Given the description of an element on the screen output the (x, y) to click on. 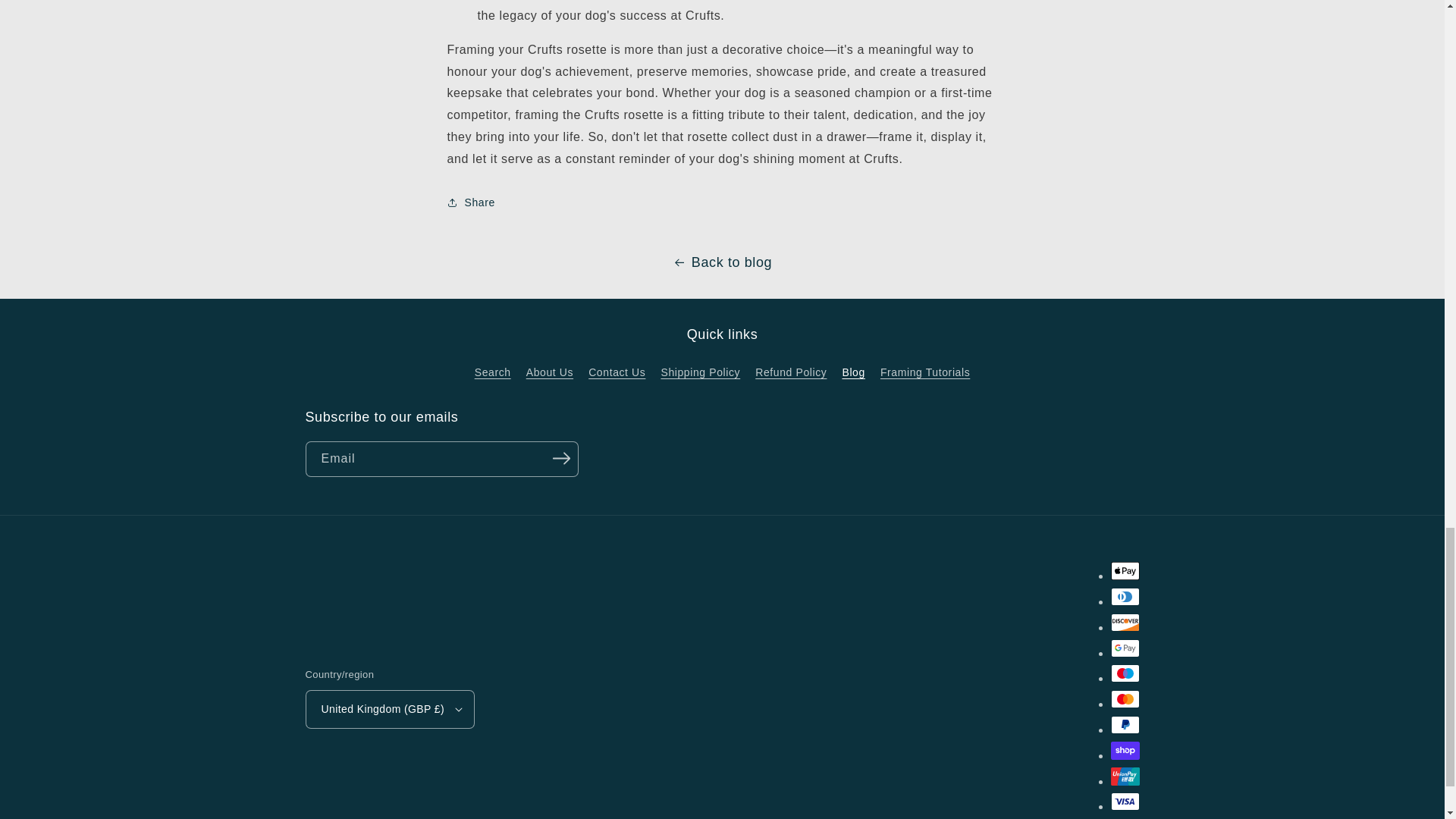
Apple Pay (1123, 570)
Maestro (1123, 673)
Discover (1123, 622)
Diners Club (1123, 597)
Google Pay (1123, 648)
